Given the description of an element on the screen output the (x, y) to click on. 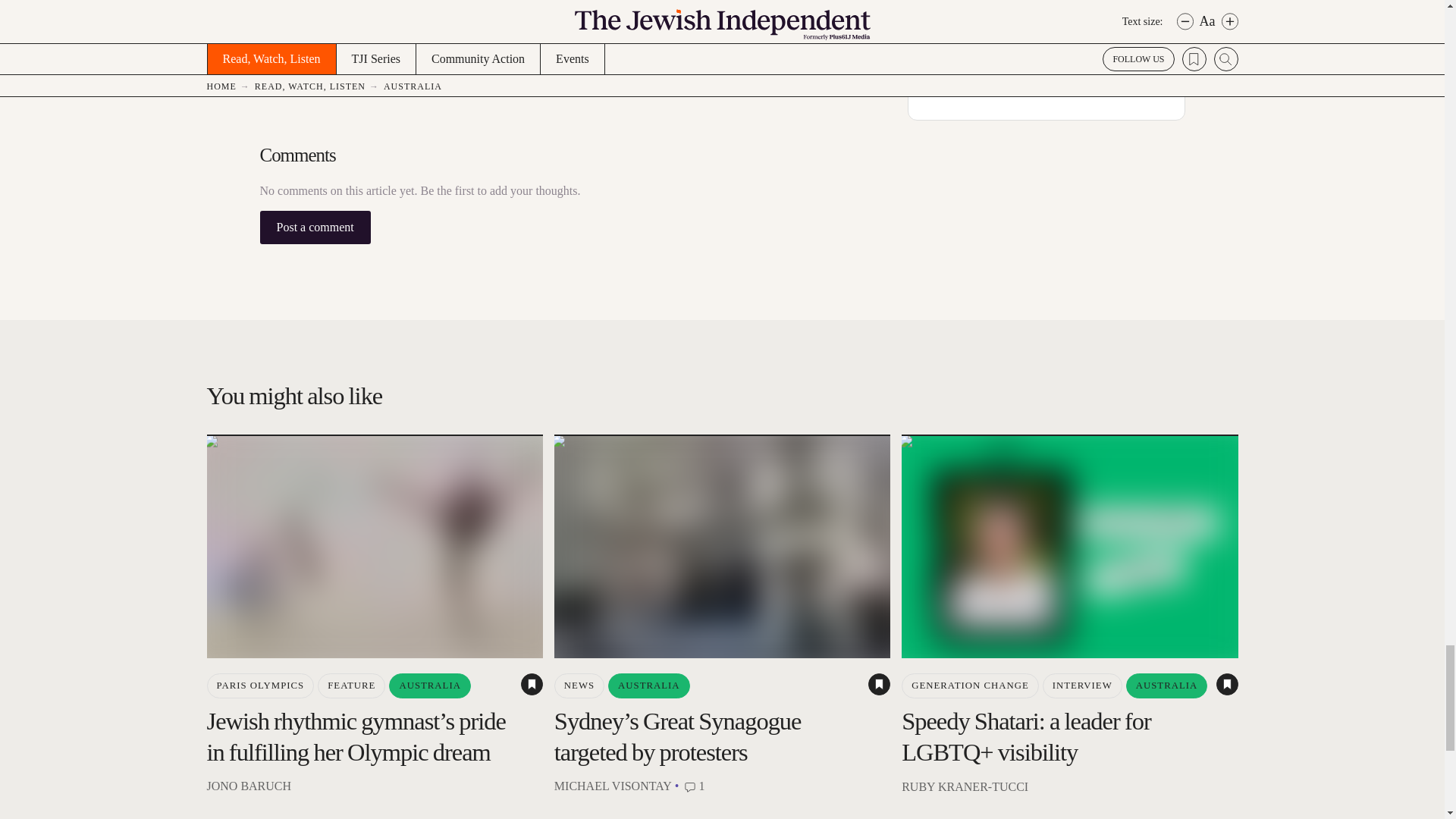
Add to your saved articles (878, 684)
Add to your saved articles (1227, 684)
Add to your saved articles (532, 684)
